Given the description of an element on the screen output the (x, y) to click on. 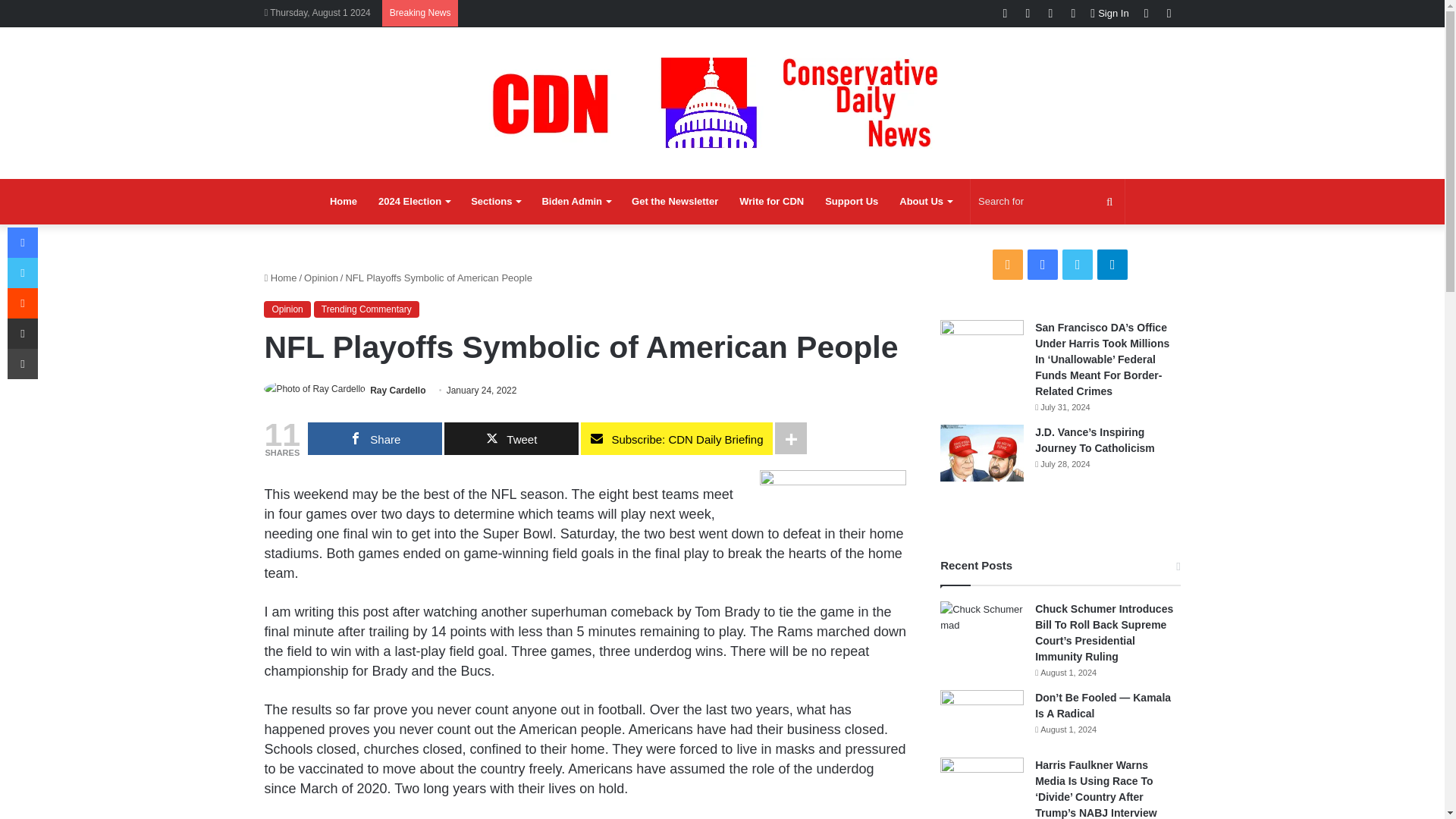
Home (343, 201)
Sections (495, 201)
Conservative Daily News (721, 102)
Search for (1047, 201)
Get the Newsletter (675, 201)
2024 Election (414, 201)
Become a CDN Contributor (771, 201)
Ray Cardello (397, 389)
Support CDN With a Small Donation (850, 201)
Biden Admin (576, 201)
